Given the description of an element on the screen output the (x, y) to click on. 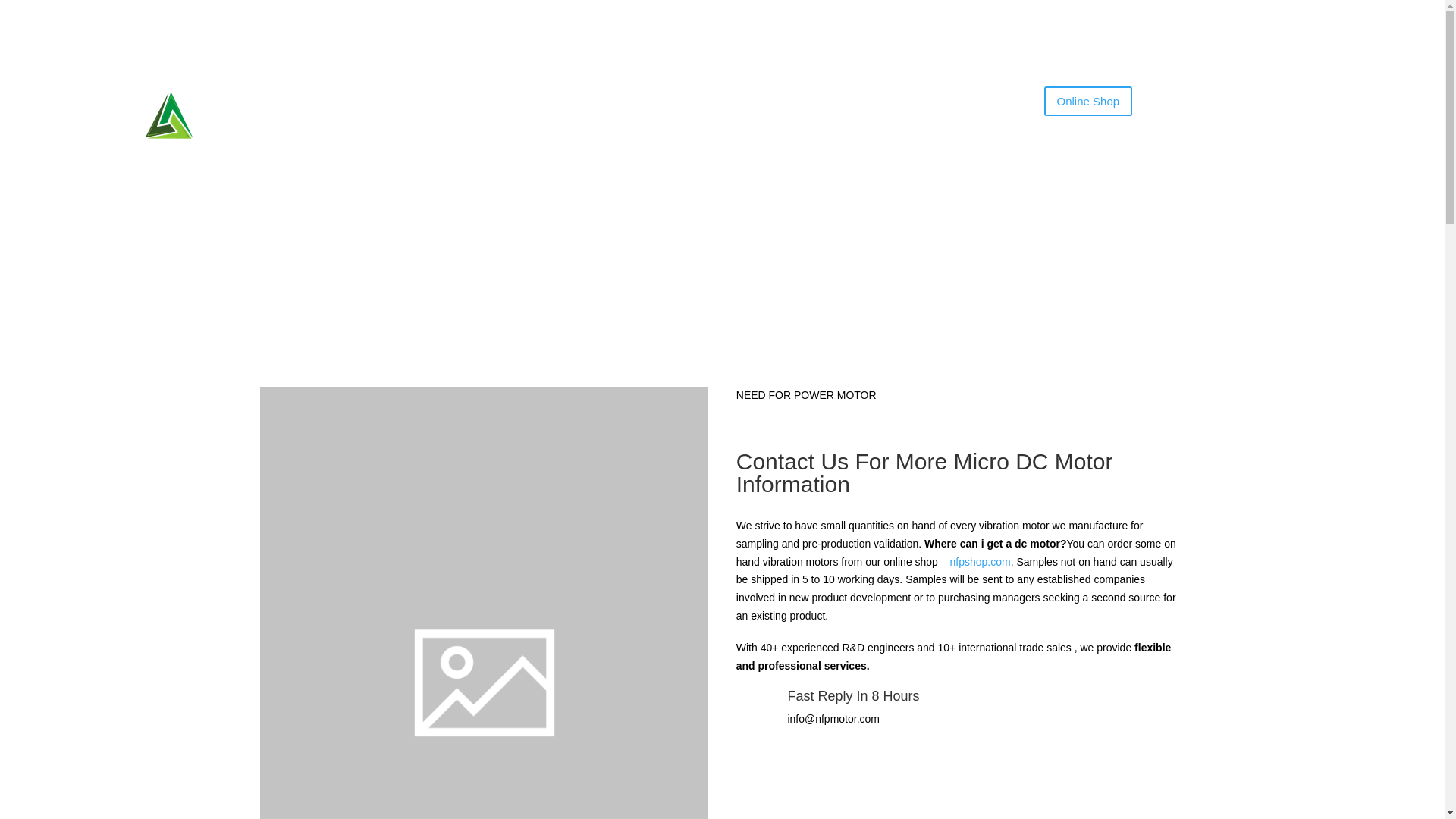
Products (597, 115)
nfpshop.com (979, 561)
Applications (678, 115)
Online Shop (1087, 101)
